Given the description of an element on the screen output the (x, y) to click on. 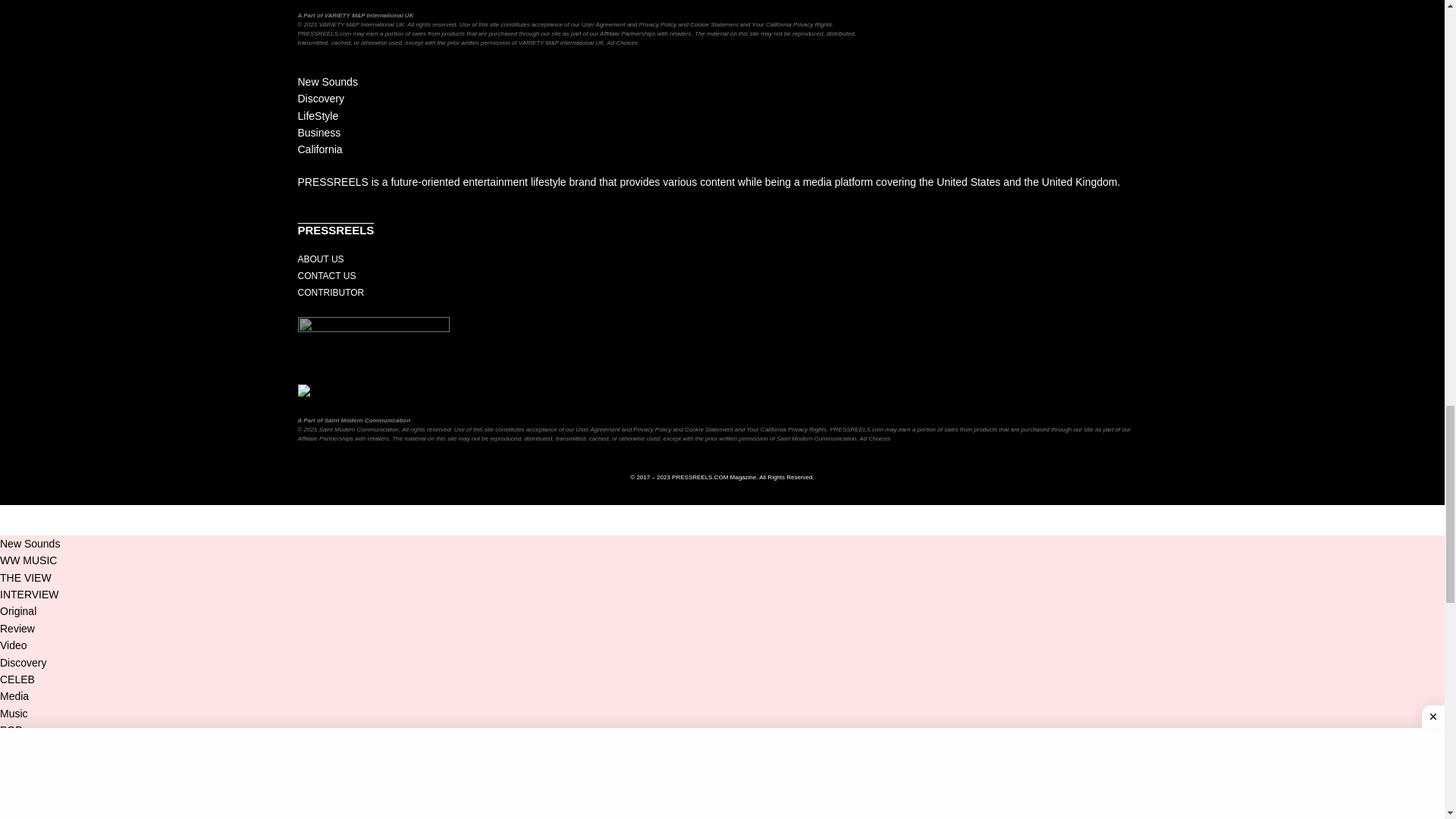
Local (12, 62)
Entertainment (32, 346)
Consumer (24, 176)
DMCA.com Protection Status (371, 391)
Sports (15, 290)
Public safety (29, 233)
National News (34, 119)
California (22, 6)
